Given the description of an element on the screen output the (x, y) to click on. 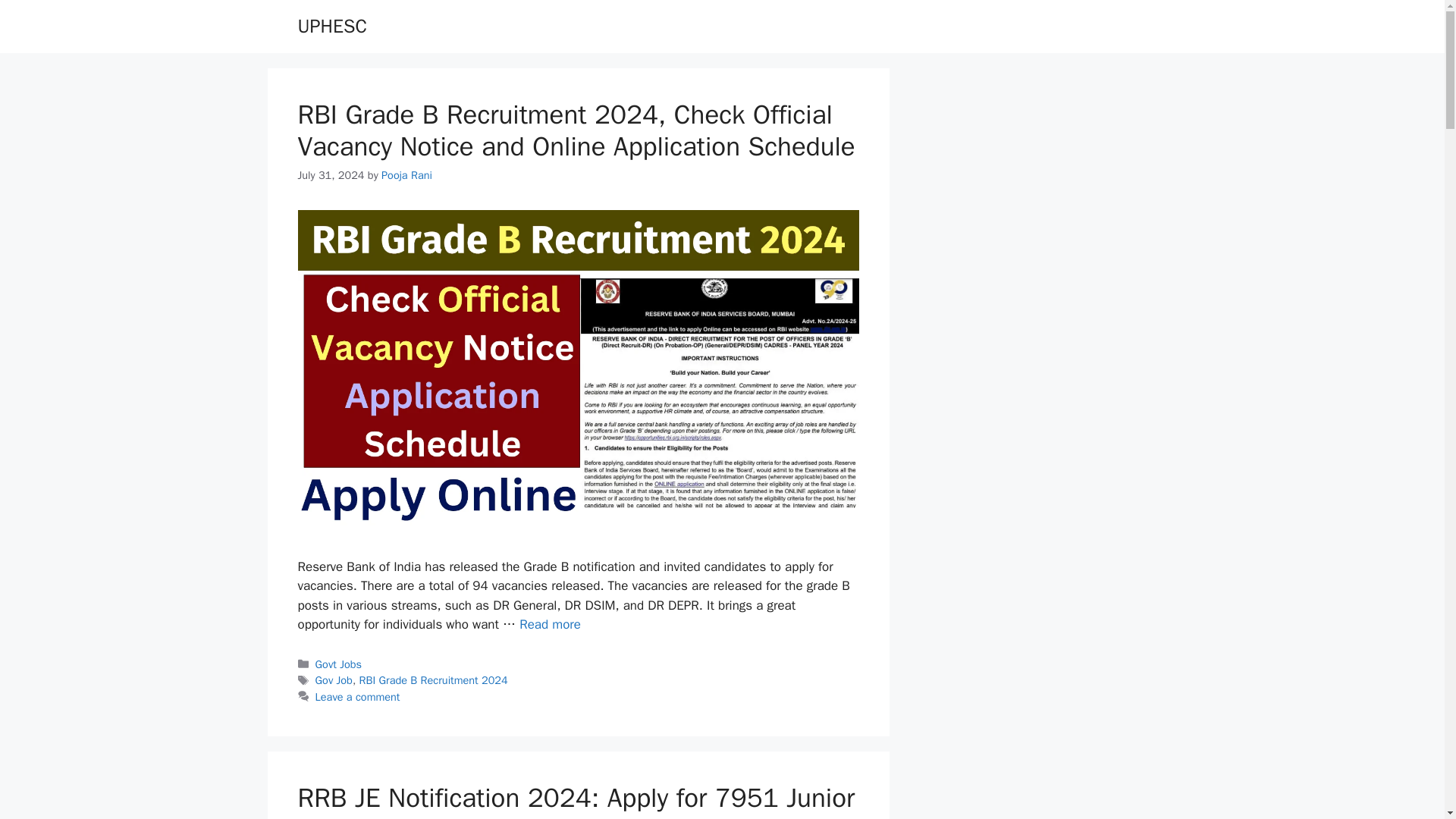
Gov Job (333, 680)
Read more (549, 624)
Leave a comment (357, 696)
Pooja Rani (406, 174)
Govt Jobs (338, 663)
View all posts by Pooja Rani (406, 174)
RBI Grade B Recruitment 2024 (433, 680)
UPHESC (331, 25)
